Given the description of an element on the screen output the (x, y) to click on. 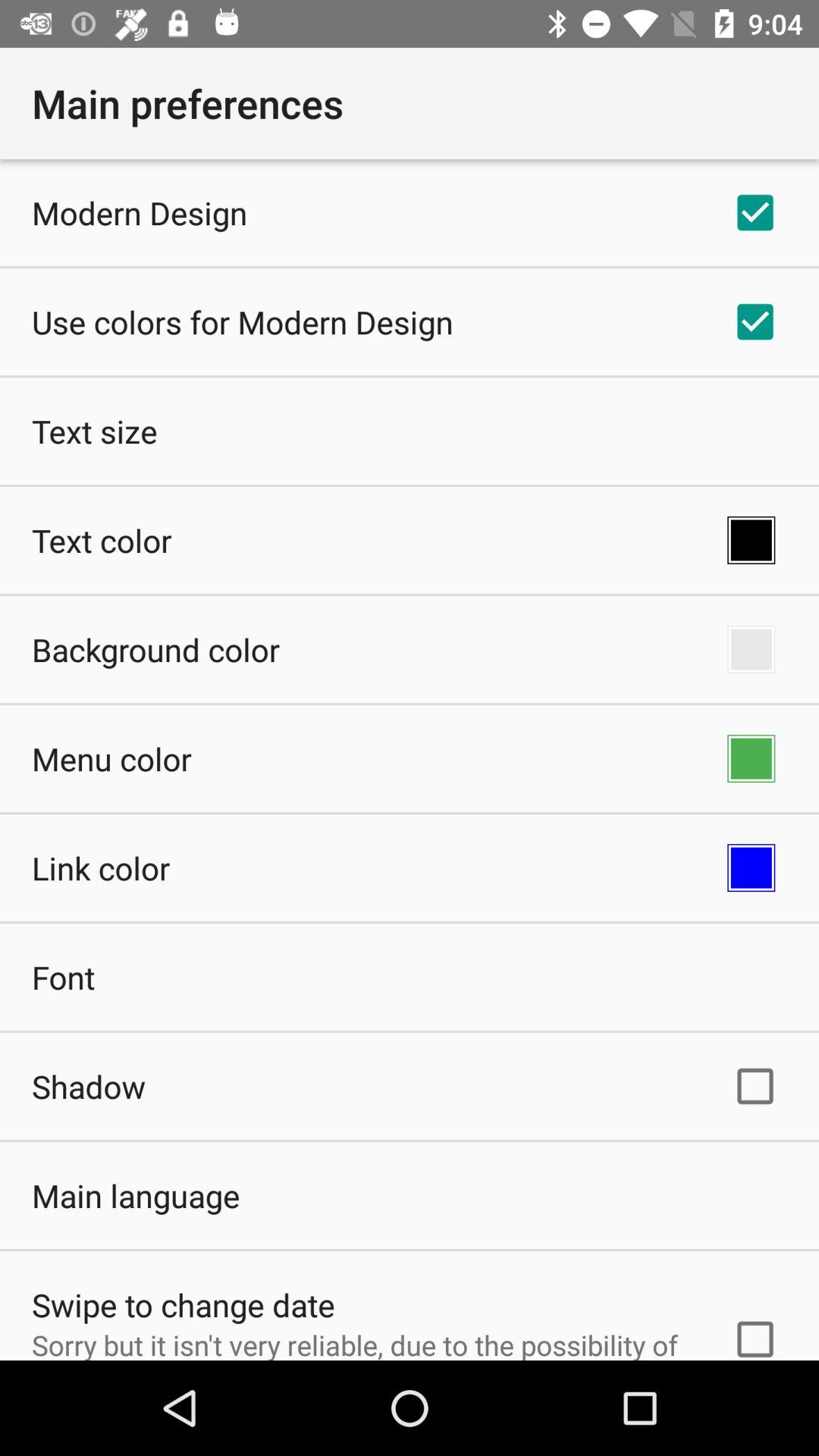
select background color icon (155, 649)
